Given the description of an element on the screen output the (x, y) to click on. 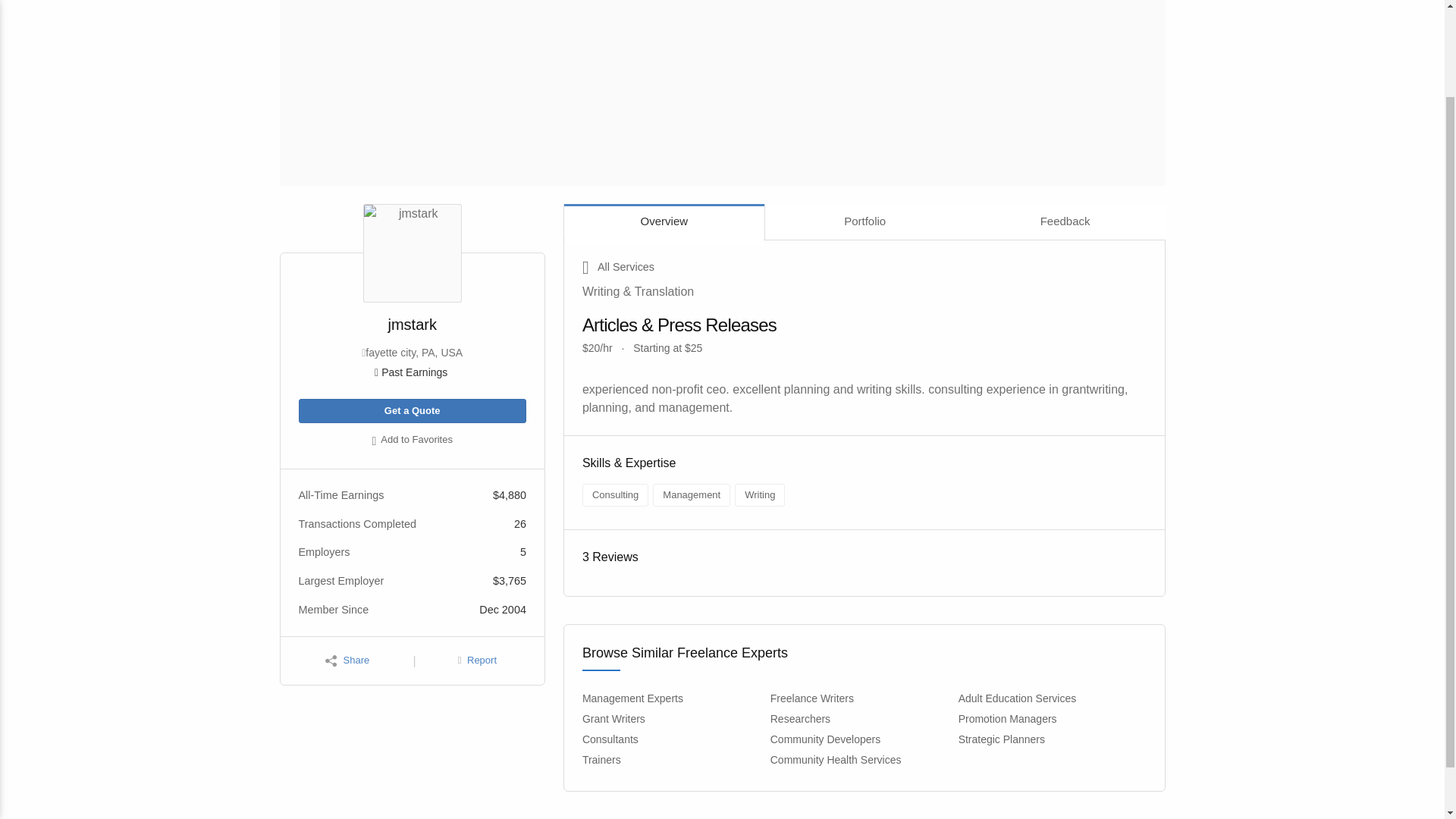
Add to Favorites (411, 441)
Overview (664, 221)
Earnings in last 12 months (411, 372)
Portfolio (865, 221)
Share (347, 660)
Report (477, 660)
Get a Quote (411, 411)
